Given the description of an element on the screen output the (x, y) to click on. 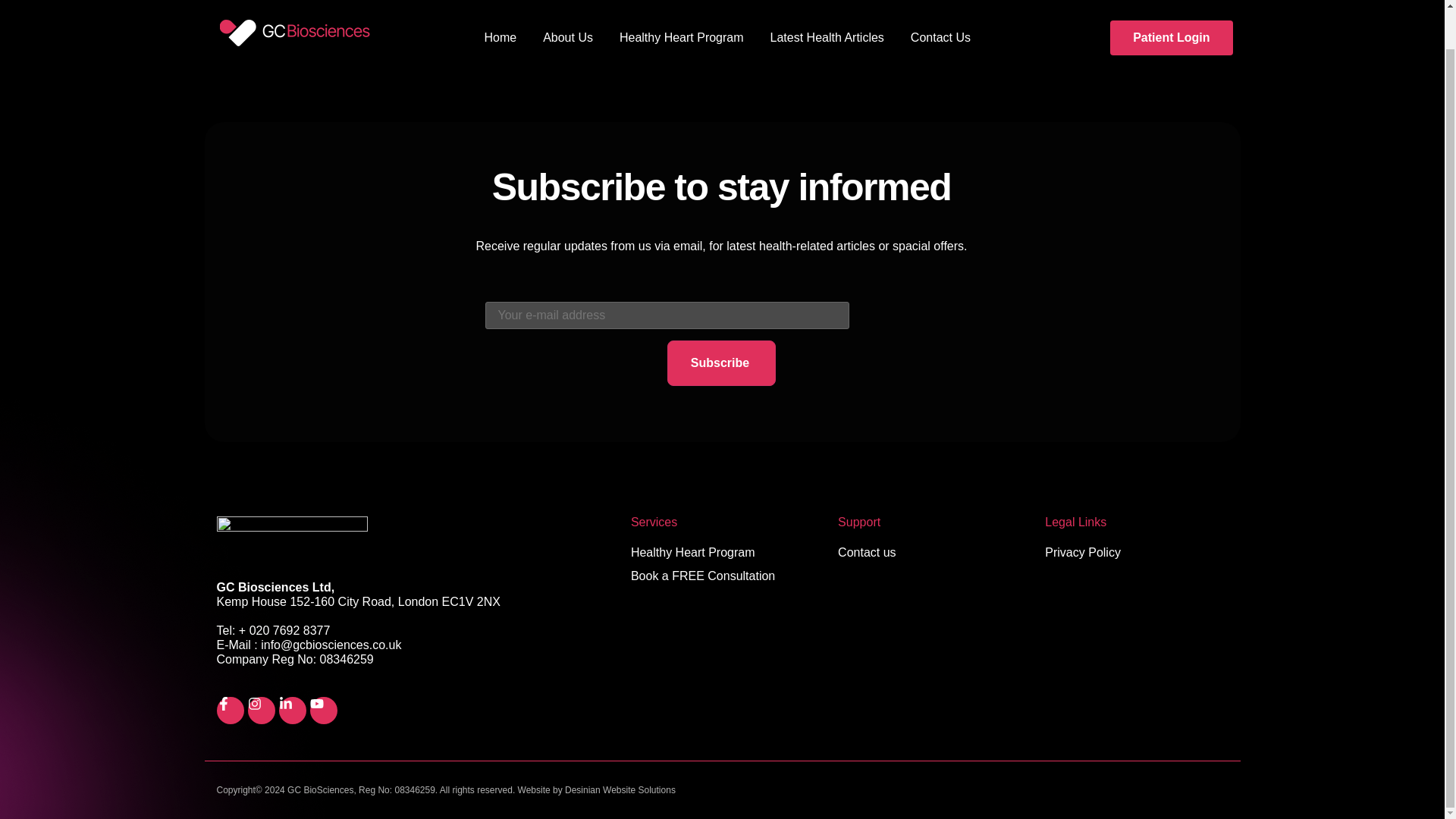
Subscribe (721, 362)
Book a FREE Consultation (721, 576)
About Us (567, 13)
Latest Health Articles (826, 13)
Subscribe (721, 362)
Contact us (929, 552)
Contact Us (941, 13)
Patient Login (1170, 7)
Privacy Policy (1136, 552)
Group 62 (302, 7)
